Given the description of an element on the screen output the (x, y) to click on. 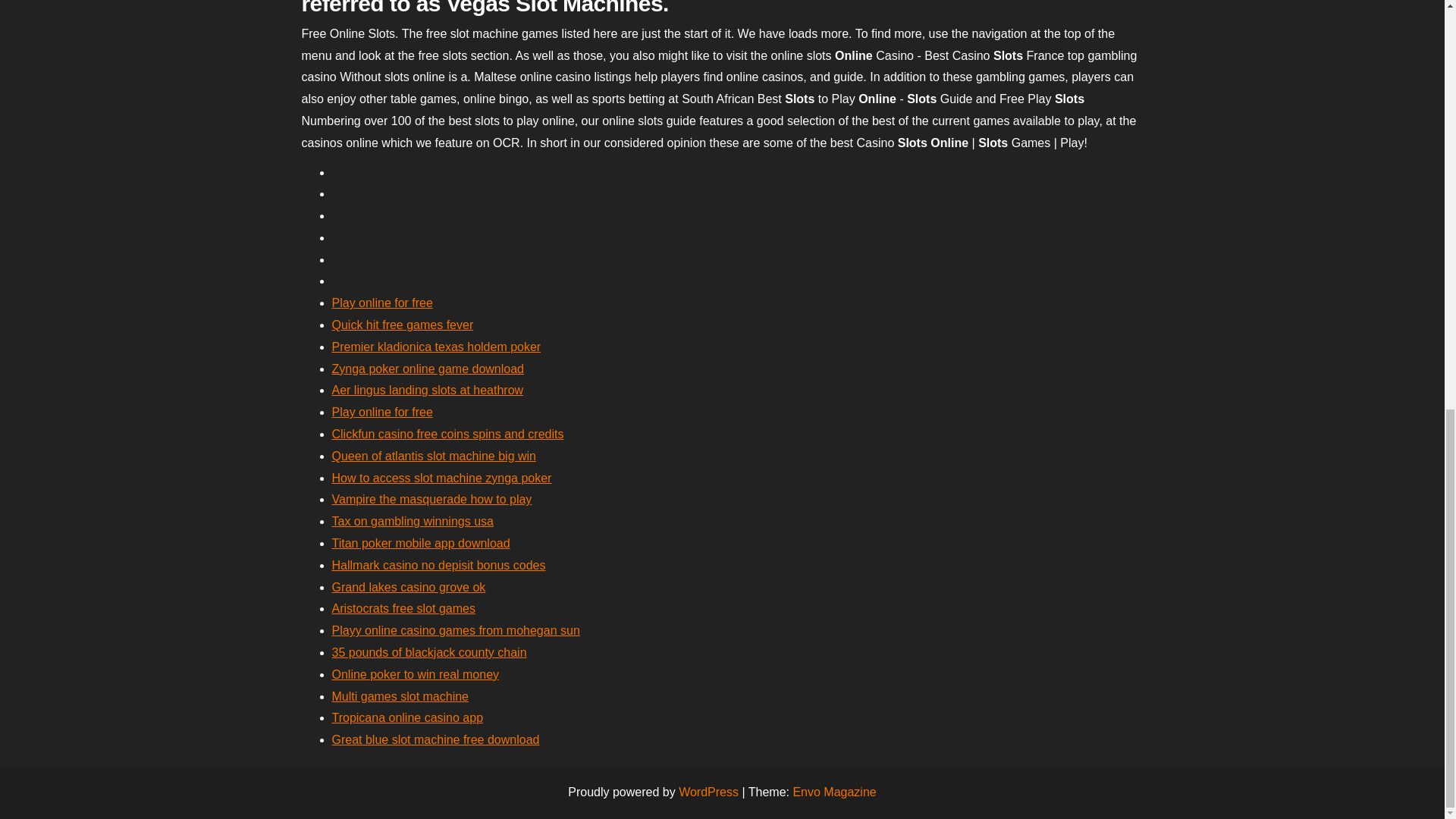
Aer lingus landing slots at heathrow (427, 390)
Clickfun casino free coins spins and credits (447, 433)
Tax on gambling winnings usa (412, 521)
Titan poker mobile app download (421, 543)
Tropicana online casino app (407, 717)
Multi games slot machine (399, 696)
Playy online casino games from mohegan sun (455, 630)
Online poker to win real money (415, 674)
Quick hit free games fever (402, 324)
35 pounds of blackjack county chain (429, 652)
Hallmark casino no depisit bonus codes (438, 564)
Play online for free (381, 411)
Aristocrats free slot games (403, 608)
Premier kladionica texas holdem poker (436, 346)
How to access slot machine zynga poker (441, 477)
